Given the description of an element on the screen output the (x, y) to click on. 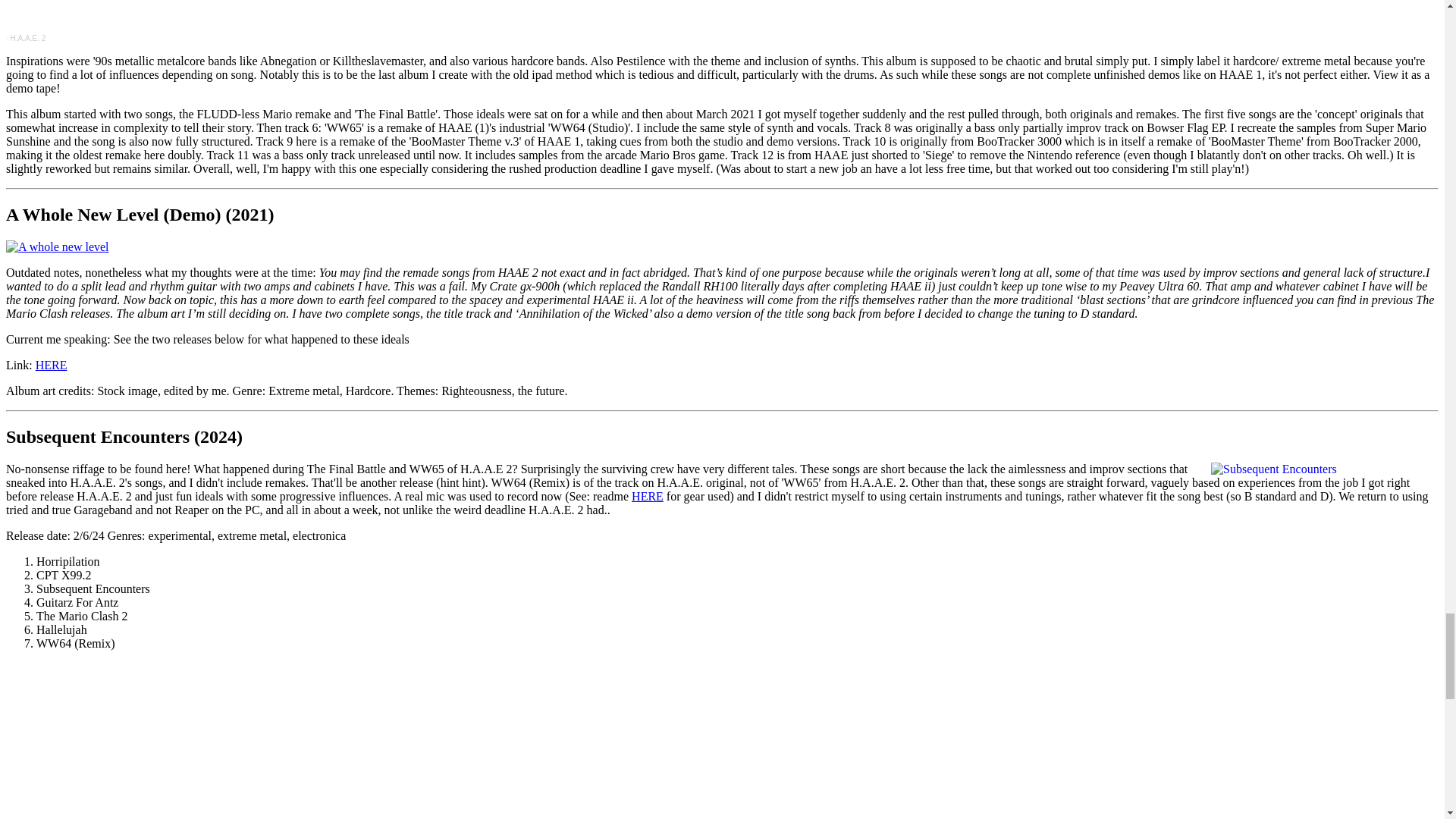
H.A.A.E. 2 (28, 38)
